Given the description of an element on the screen output the (x, y) to click on. 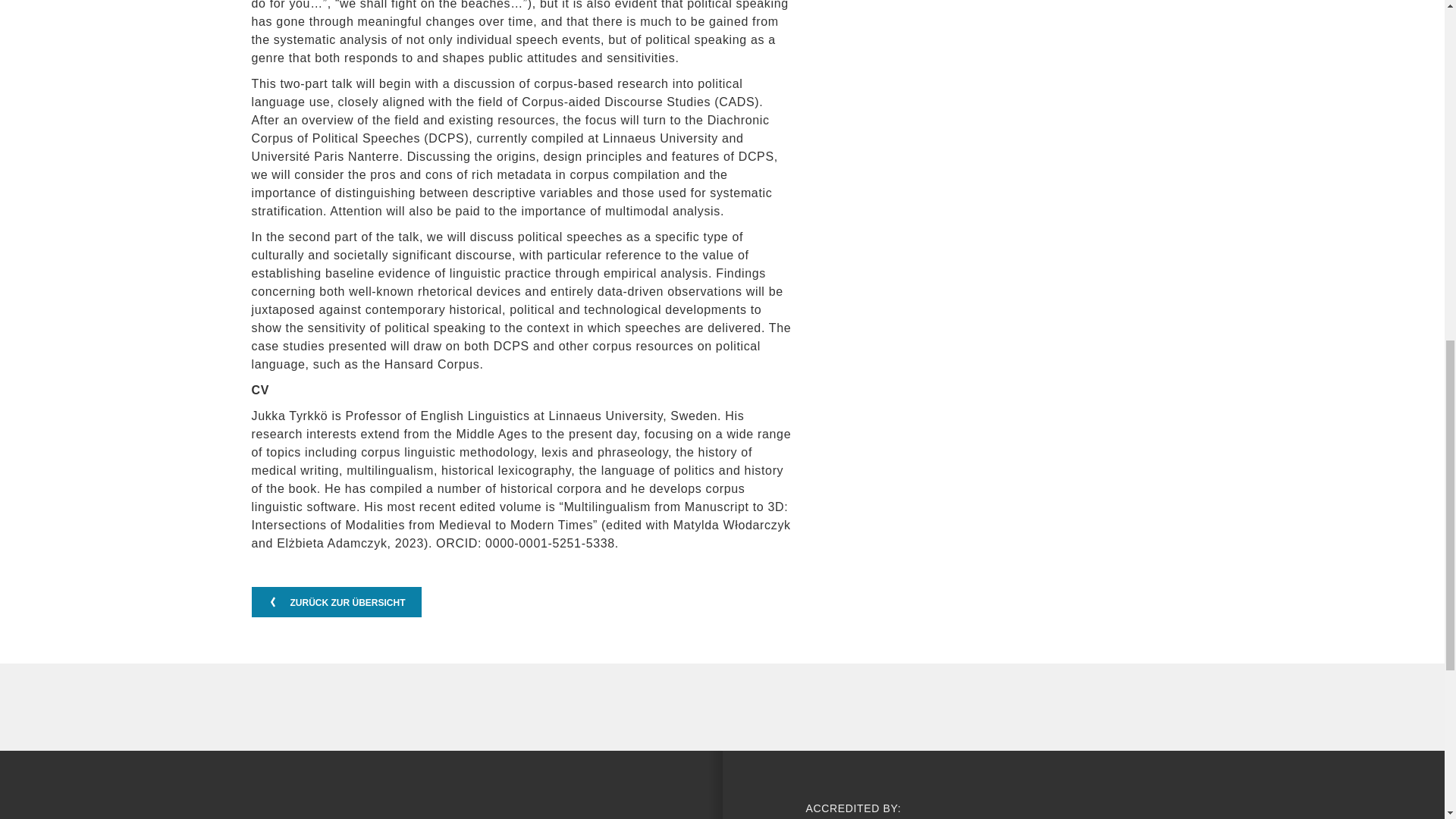
X (473, 807)
Blog (374, 807)
Facebook (276, 807)
Newsletter (572, 807)
YouTube (423, 807)
LinkedIn (521, 807)
Instagram (324, 807)
